Given the description of an element on the screen output the (x, y) to click on. 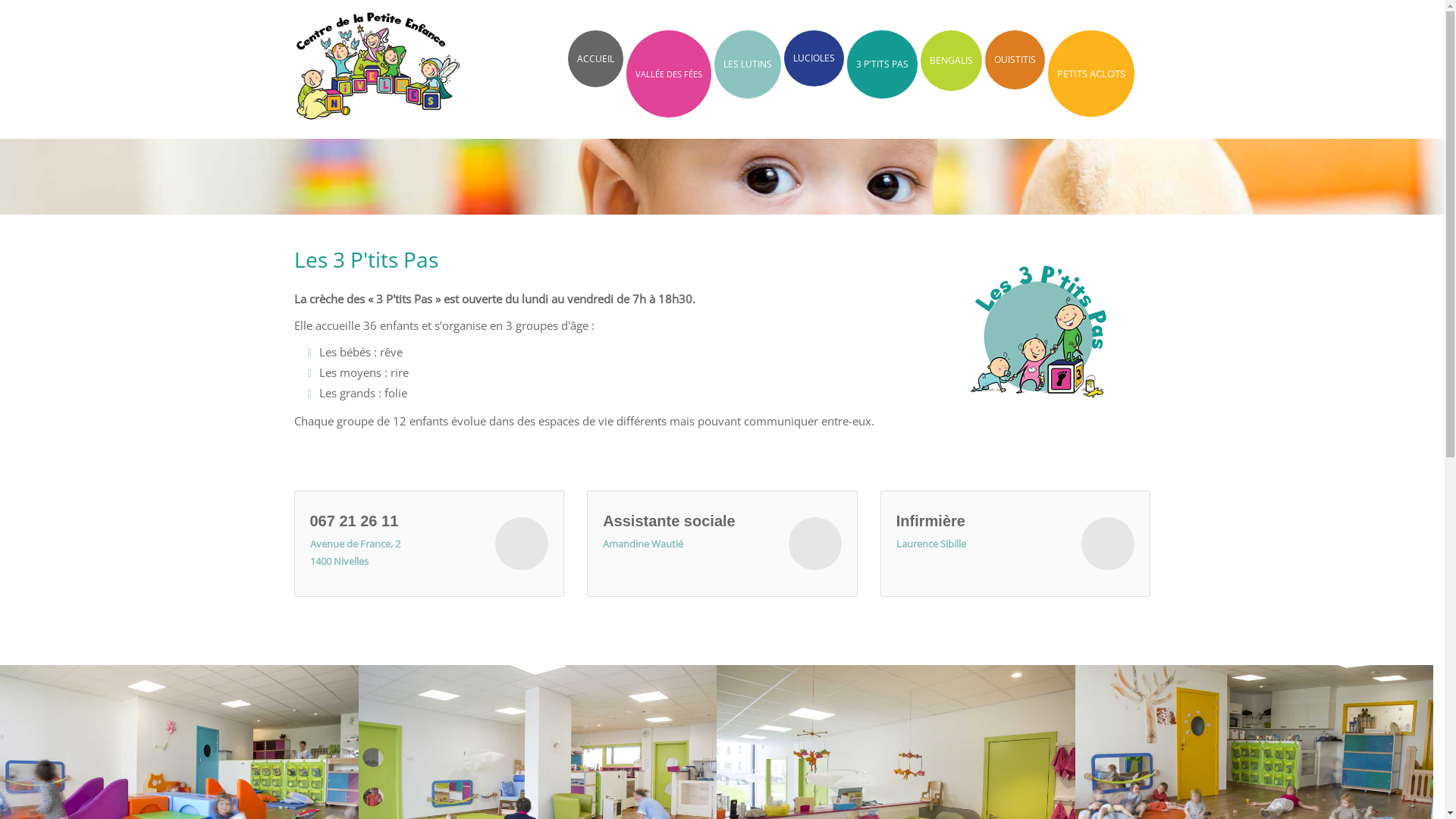
Centre de la petite enfance de Nivelles Element type: hover (378, 58)
3 P'TITS PAS Element type: text (881, 64)
BENGALIS Element type: text (951, 60)
ACCUEIL Element type: text (594, 58)
PETITS ACLOTS Element type: text (1091, 73)
LES LUTINS Element type: text (747, 64)
OUISTITIS Element type: text (1014, 59)
LUCIOLES Element type: text (814, 58)
